Given the description of an element on the screen output the (x, y) to click on. 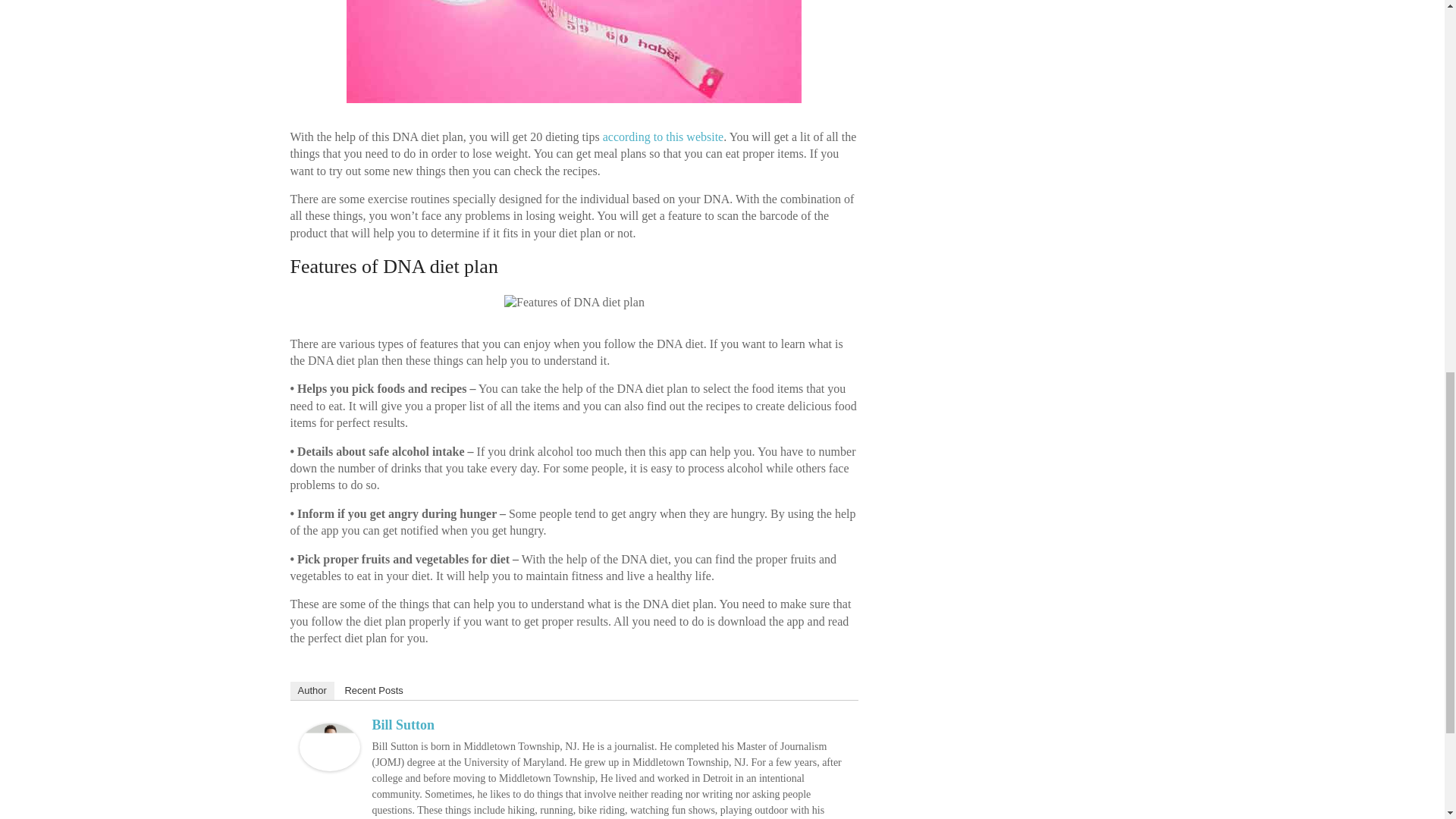
Recent Posts (373, 690)
according to this website (662, 136)
Author (311, 690)
Bill Sutton (328, 730)
Bill Sutton (402, 724)
